Given the description of an element on the screen output the (x, y) to click on. 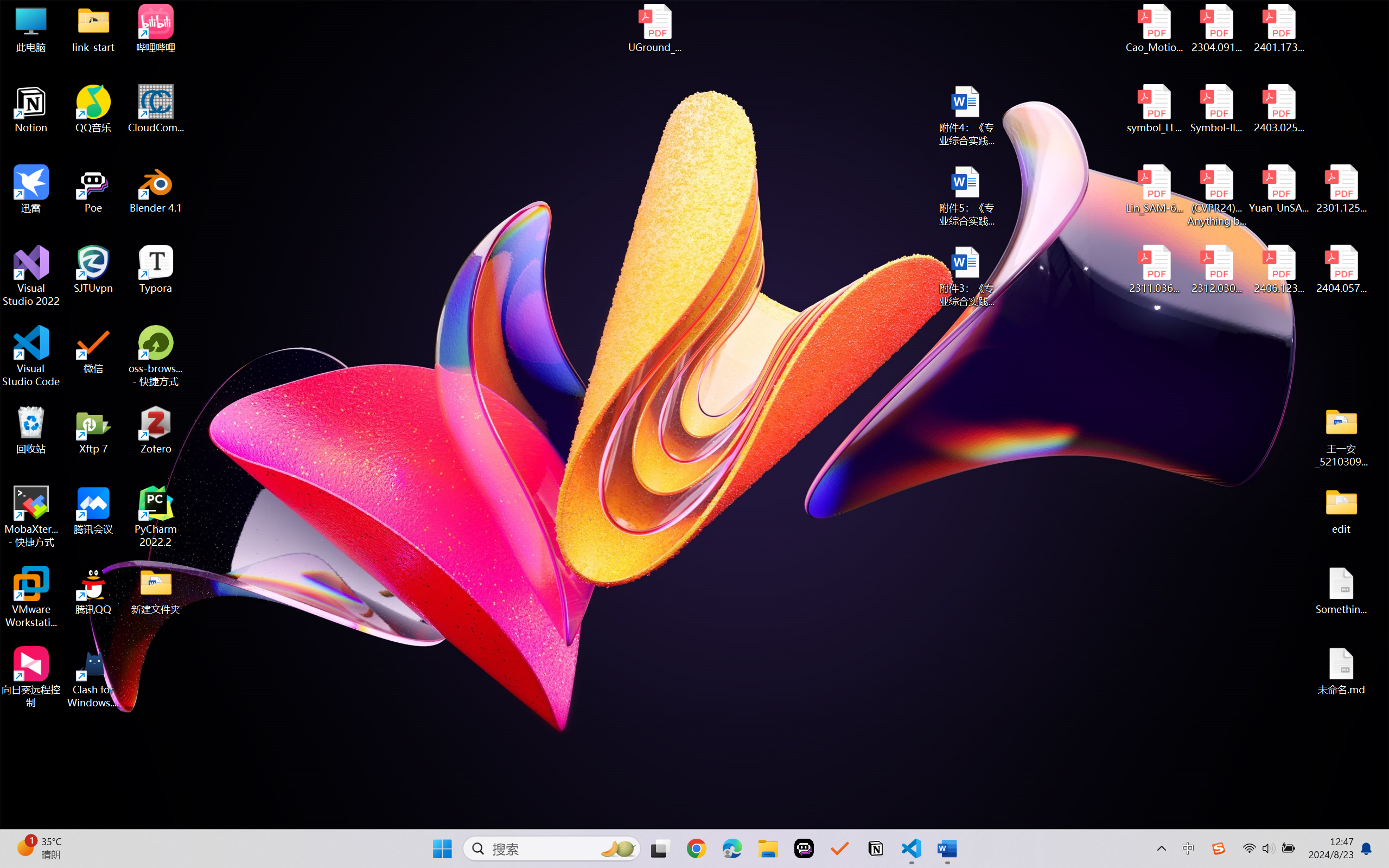
2304.09121v3.pdf (1216, 28)
Symbol-llm-v2.pdf (1216, 109)
Visual Studio Code (31, 355)
(CVPR24)Matching Anything by Segmenting Anything.pdf (1216, 195)
